Given the description of an element on the screen output the (x, y) to click on. 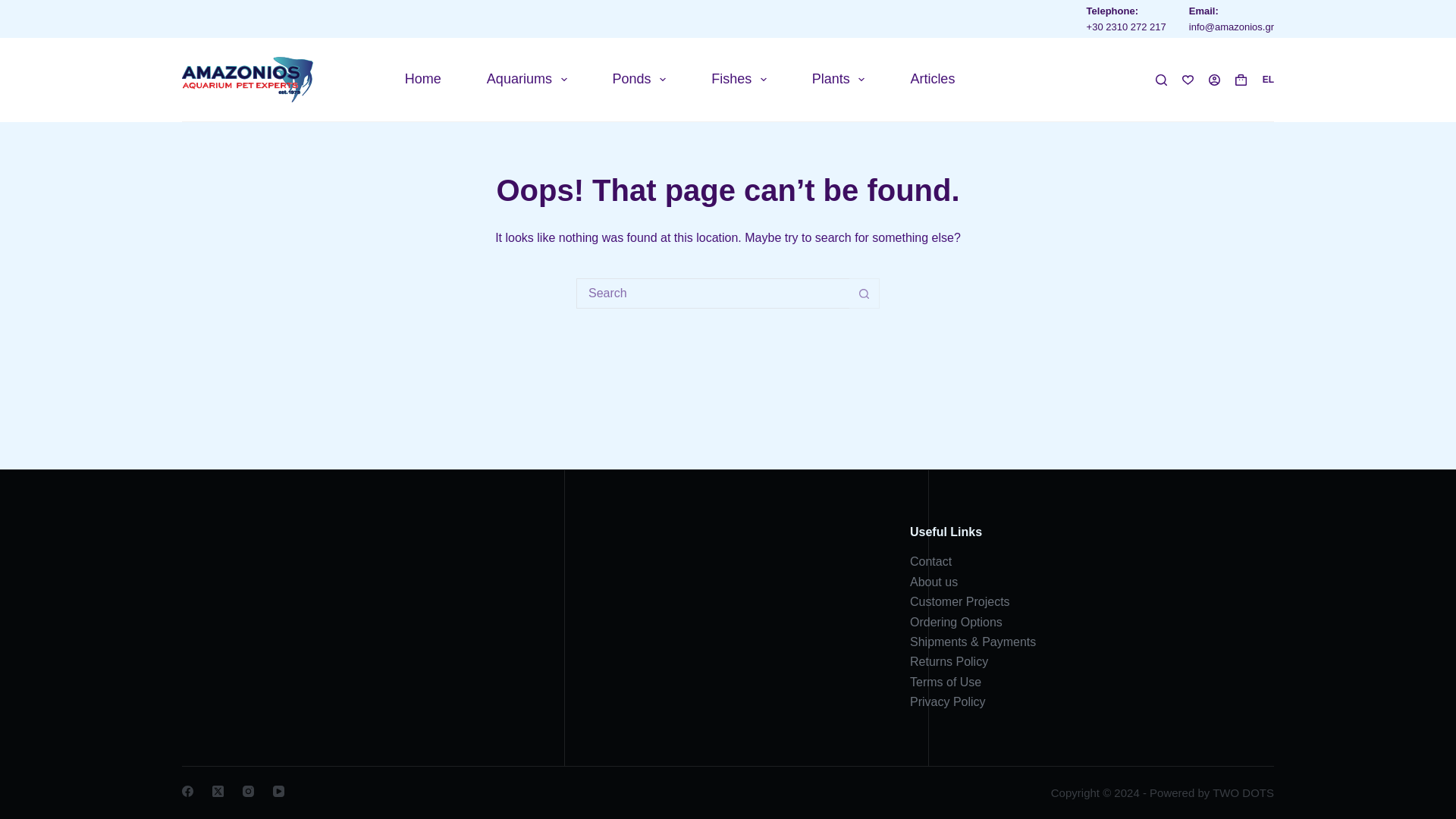
Search for... (712, 293)
Skip to content (15, 7)
